Given the description of an element on the screen output the (x, y) to click on. 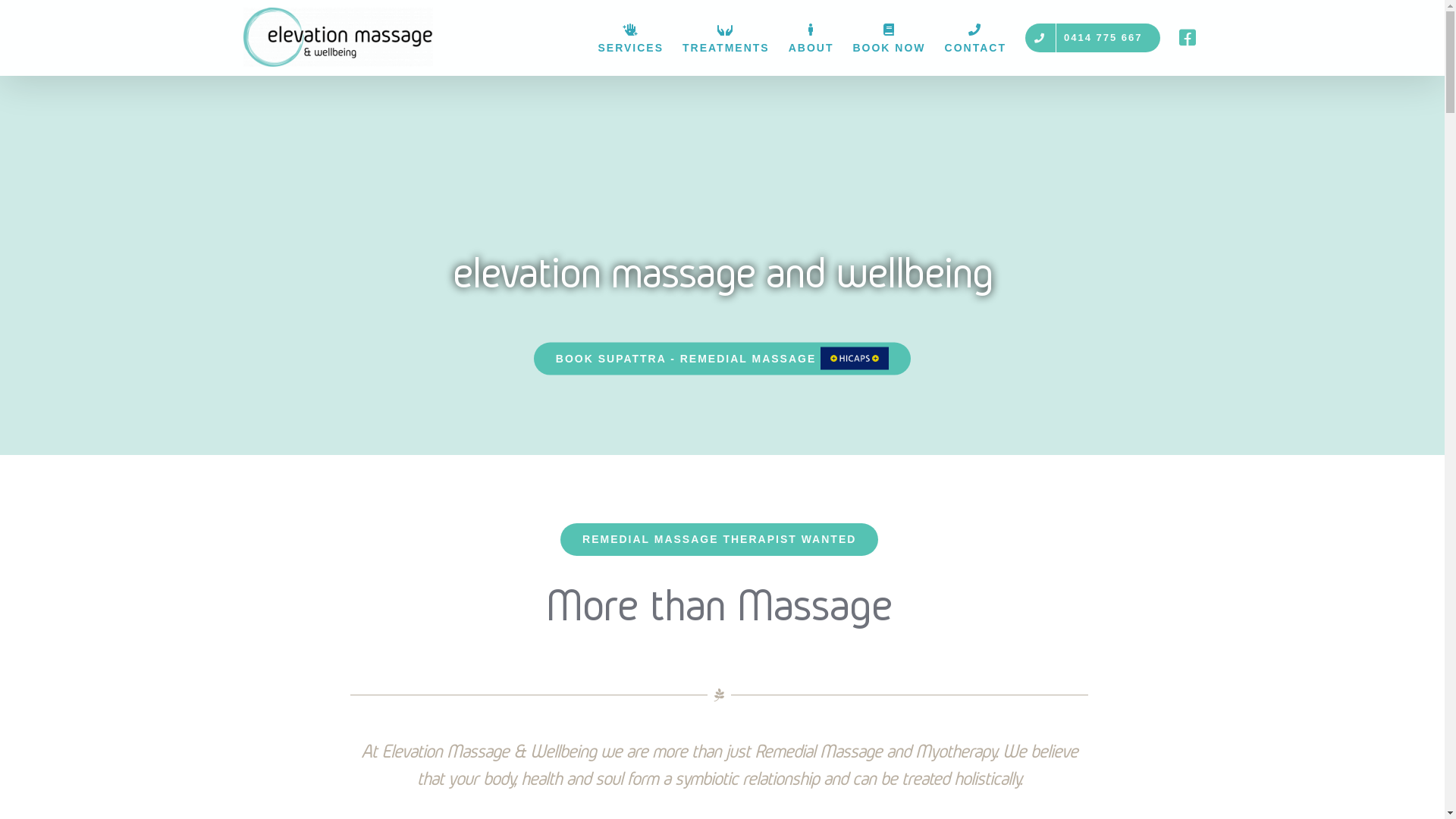
REMEDIAL MASSAGE THERAPIST WANTED Element type: text (719, 539)
CONTACT Element type: text (975, 37)
0414 775 667 Element type: text (1092, 37)
TREATMENTS Element type: text (725, 37)
ABOUT Element type: text (811, 37)
BOOK SUPATTRA - REMEDIAL MASSAGE Element type: text (721, 358)
SERVICES Element type: text (630, 37)
BOOK NOW Element type: text (888, 37)
